Given the description of an element on the screen output the (x, y) to click on. 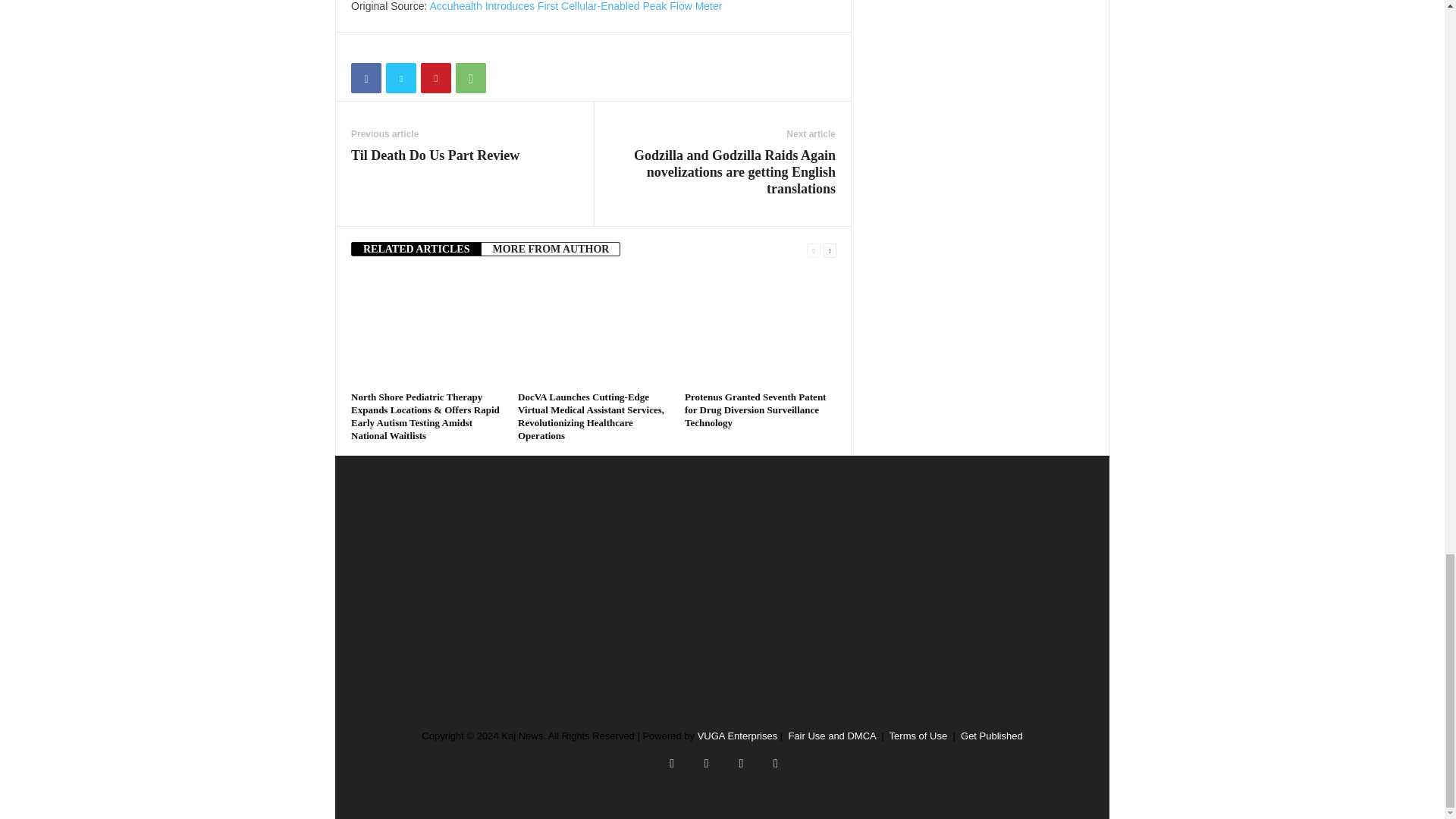
Accuhealth Introduces First Cellular-Enabled Peak Flow Meter (575, 6)
